Given the description of an element on the screen output the (x, y) to click on. 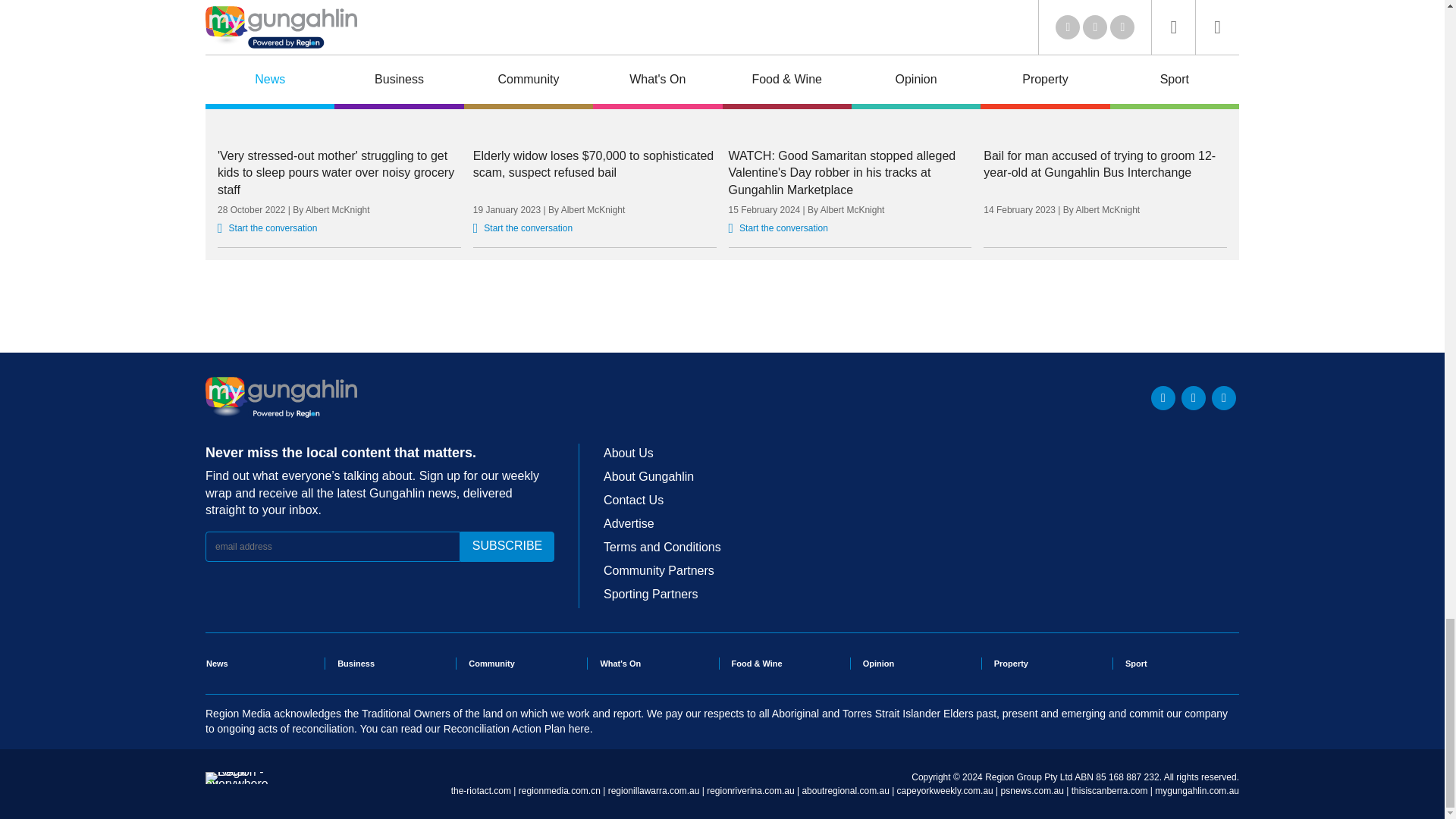
Region - Local everywhere (236, 784)
subscribe (507, 546)
Instagram (1223, 397)
Twitter (1162, 397)
Facebook (1192, 397)
